Given the description of an element on the screen output the (x, y) to click on. 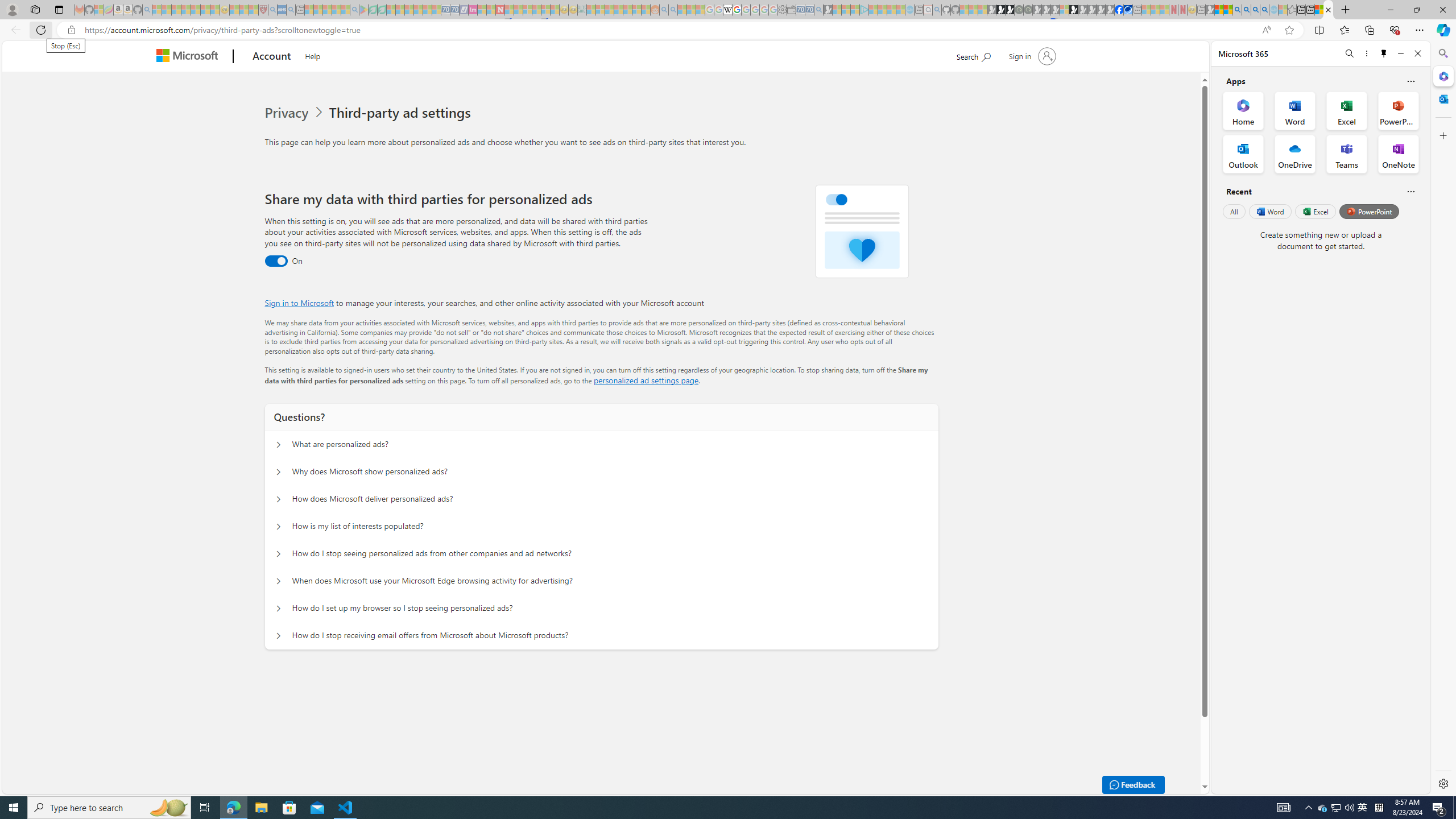
Sign in to your account - Sleeping (1064, 9)
Favorites - Sleeping (1291, 9)
Robert H. Shmerling, MD - Harvard Health - Sleeping (263, 9)
Sign in to your account (1031, 55)
Third-party ad settings (402, 112)
Word Office App (1295, 110)
Help (312, 54)
Settings - Sleeping (782, 9)
Jobs - lastminute.com Investor Portal - Sleeping (472, 9)
Microsoft Start - Sleeping (891, 9)
